Given the description of an element on the screen output the (x, y) to click on. 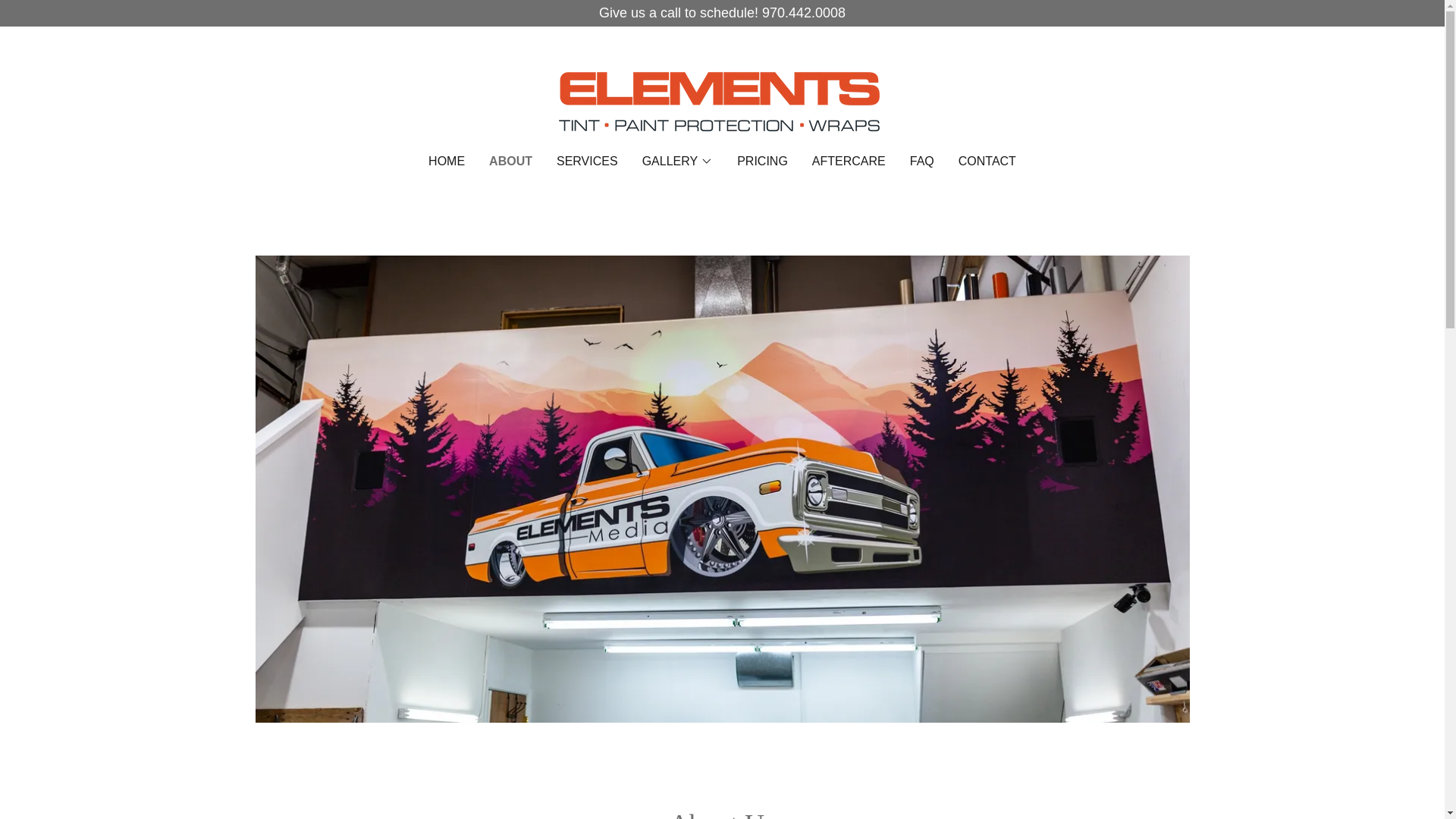
GALLERY (677, 161)
ABOUT (510, 161)
HOME (445, 161)
FAQ (922, 161)
AFTERCARE (848, 161)
Elements Media (721, 100)
PRICING (762, 161)
CONTACT (986, 161)
SERVICES (587, 161)
